Given the description of an element on the screen output the (x, y) to click on. 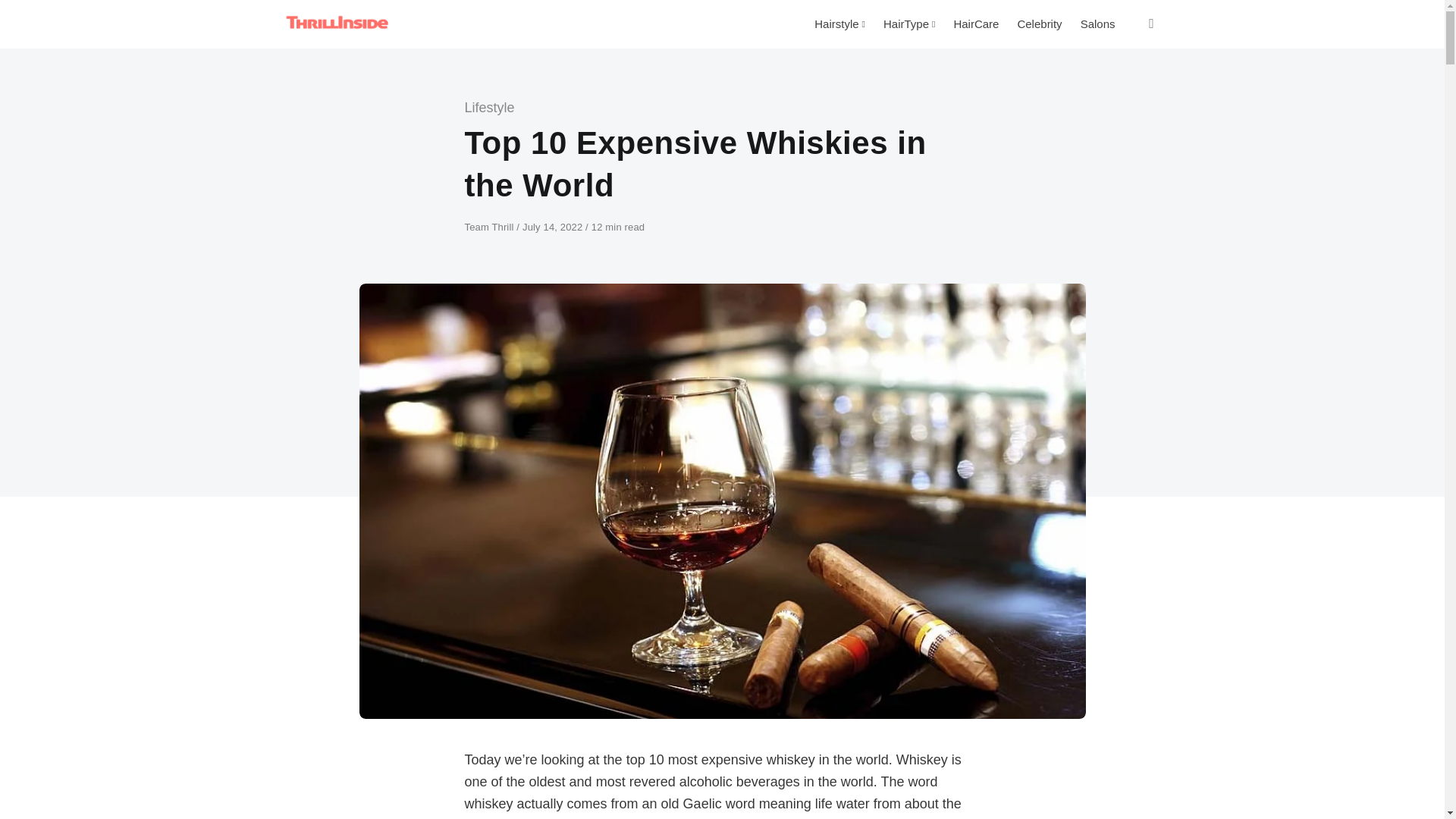
Team Thrill (490, 226)
HairCare (975, 24)
Lifestyle (488, 107)
July 14, 2022 (553, 226)
Hairstyle (840, 24)
Salons (1097, 24)
Celebrity (1038, 24)
July 14, 2022 (553, 226)
HairType (909, 24)
